Given the description of an element on the screen output the (x, y) to click on. 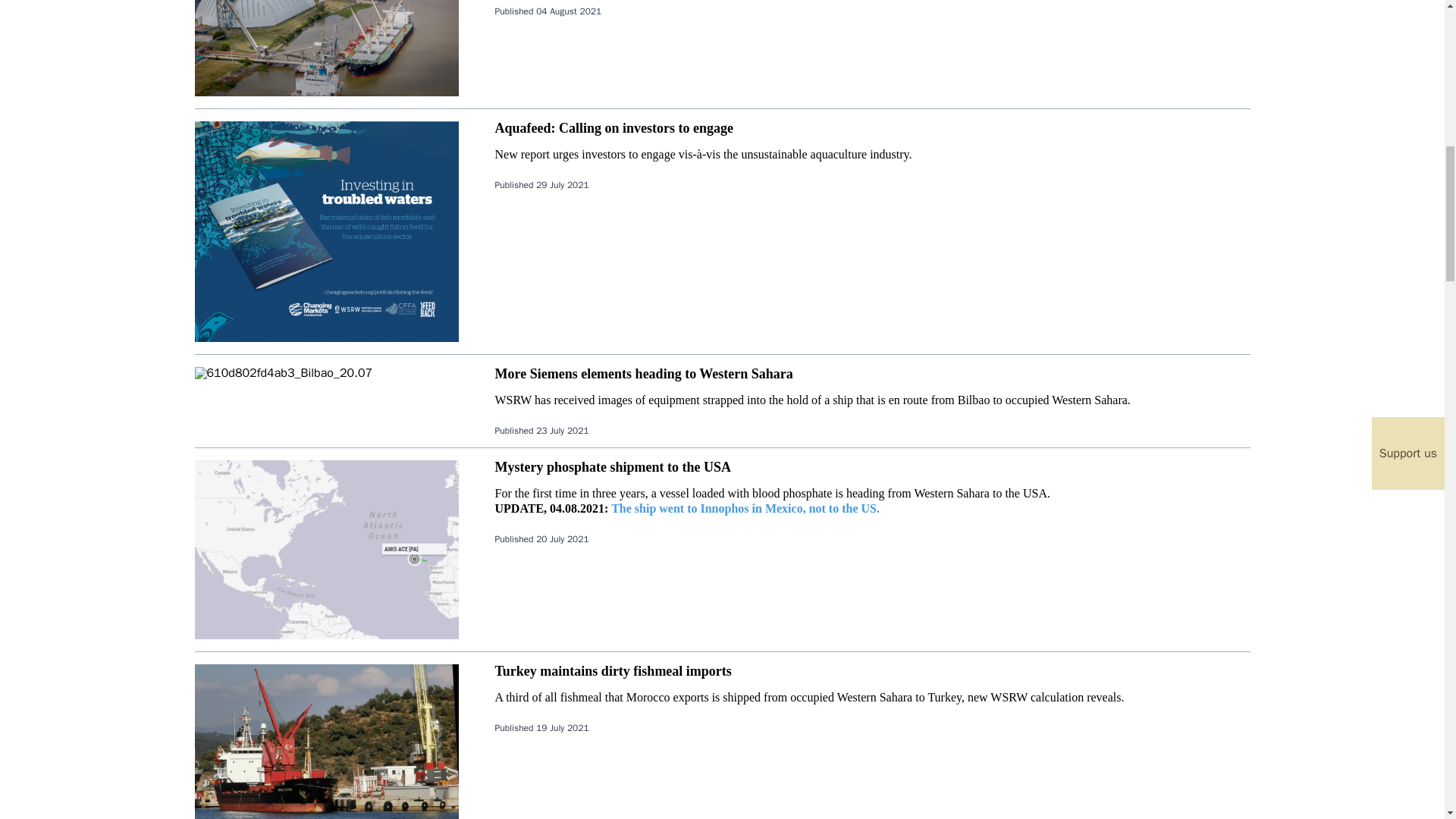
The ship went to Innophos in Mexico, not to the US. (745, 508)
More Siemens elements heading to Western Sahara (643, 373)
Turkey maintains dirty fishmeal imports (612, 670)
Aquafeed: Calling on investors to engage (614, 127)
Mystery phosphate shipment to the USA (612, 467)
